Given the description of an element on the screen output the (x, y) to click on. 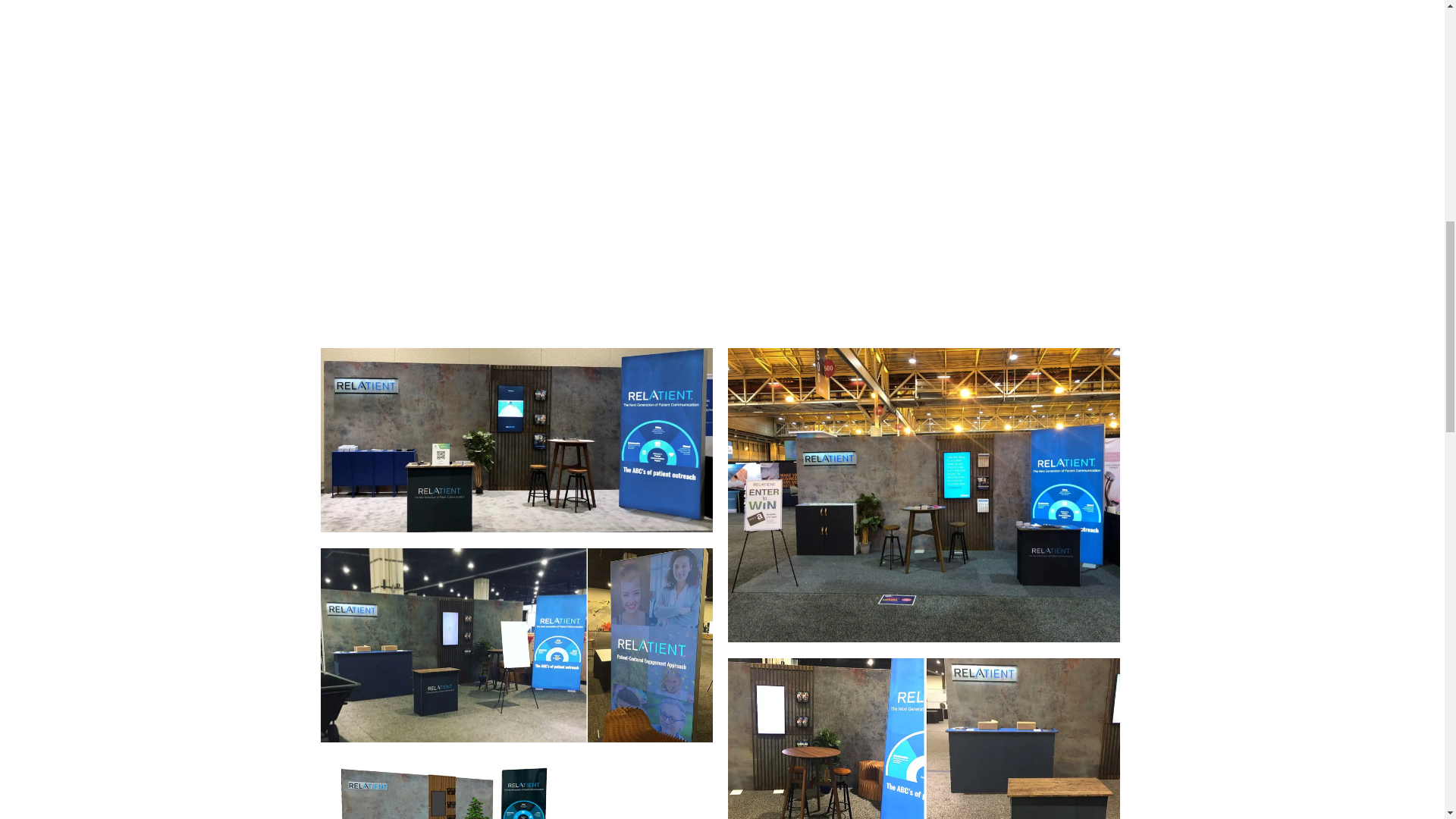
harborrelatient1 (515, 644)
harborrelatient2 (923, 738)
harborrelatientdesign (515, 788)
